Given the description of an element on the screen output the (x, y) to click on. 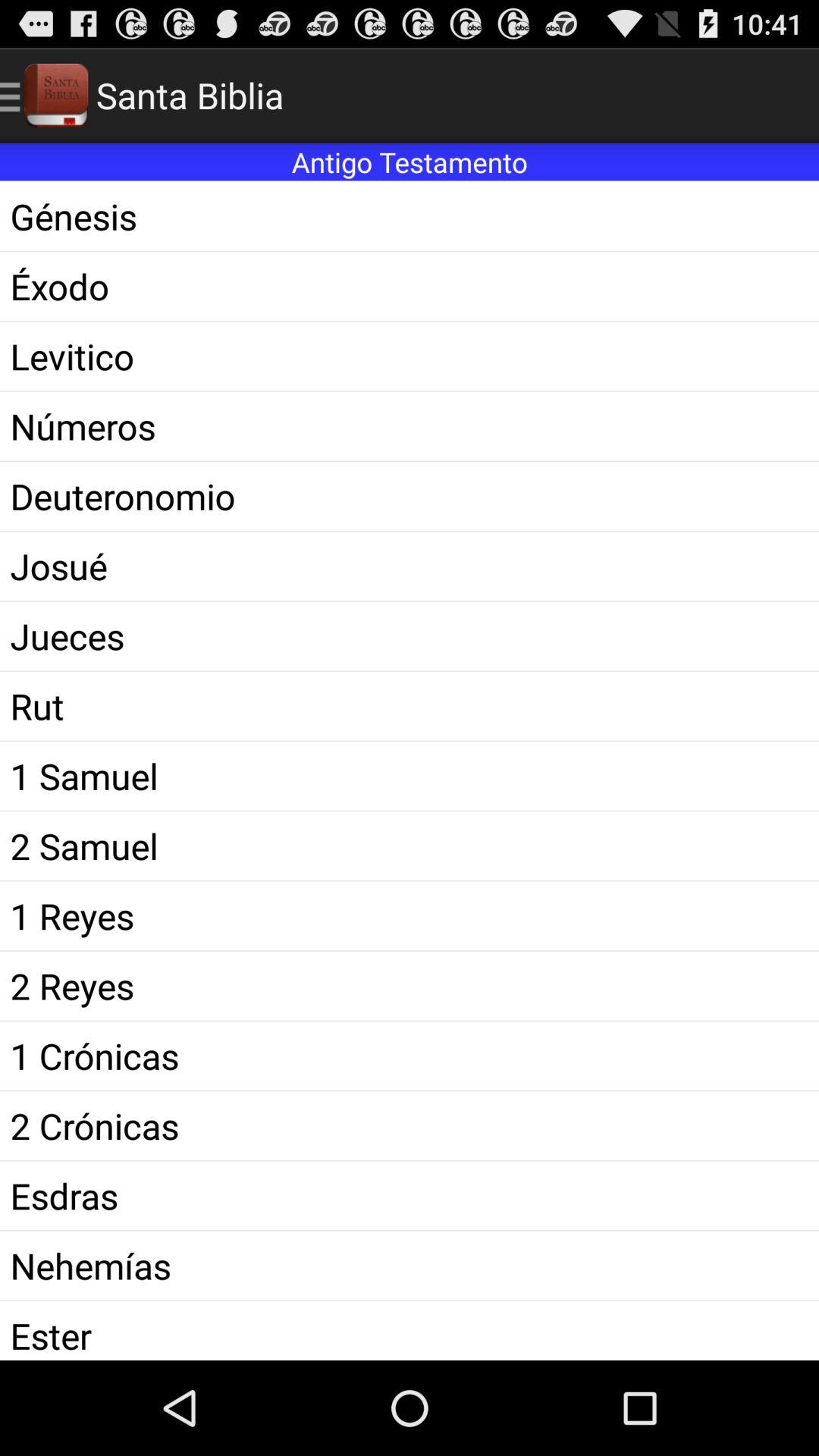
click icon below 1 samuel item (409, 845)
